Given the description of an element on the screen output the (x, y) to click on. 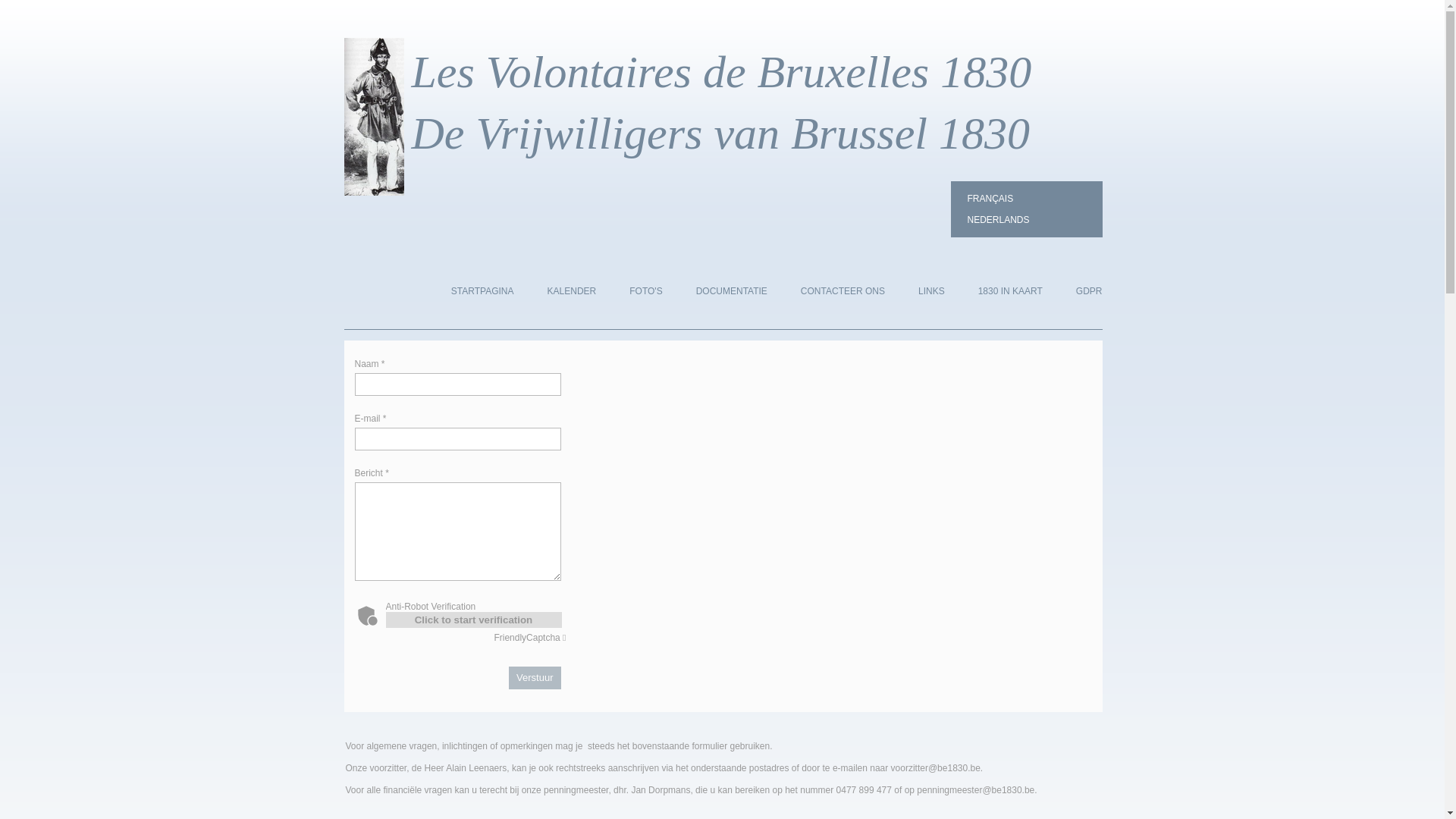
1830 IN KAART Element type: text (1010, 289)
Verstuur Element type: text (534, 677)
Click to start verification Element type: text (473, 619)
LINKS Element type: text (931, 289)
GDPR Element type: text (1089, 289)
KALENDER Element type: text (571, 289)
FOTO'S Element type: text (645, 289)
CONTACTEER ONS Element type: text (842, 289)
NEDERLANDS Element type: text (1026, 219)
STARTPAGINA Element type: text (482, 289)
DOCUMENTATIE Element type: text (731, 289)
